Given the description of an element on the screen output the (x, y) to click on. 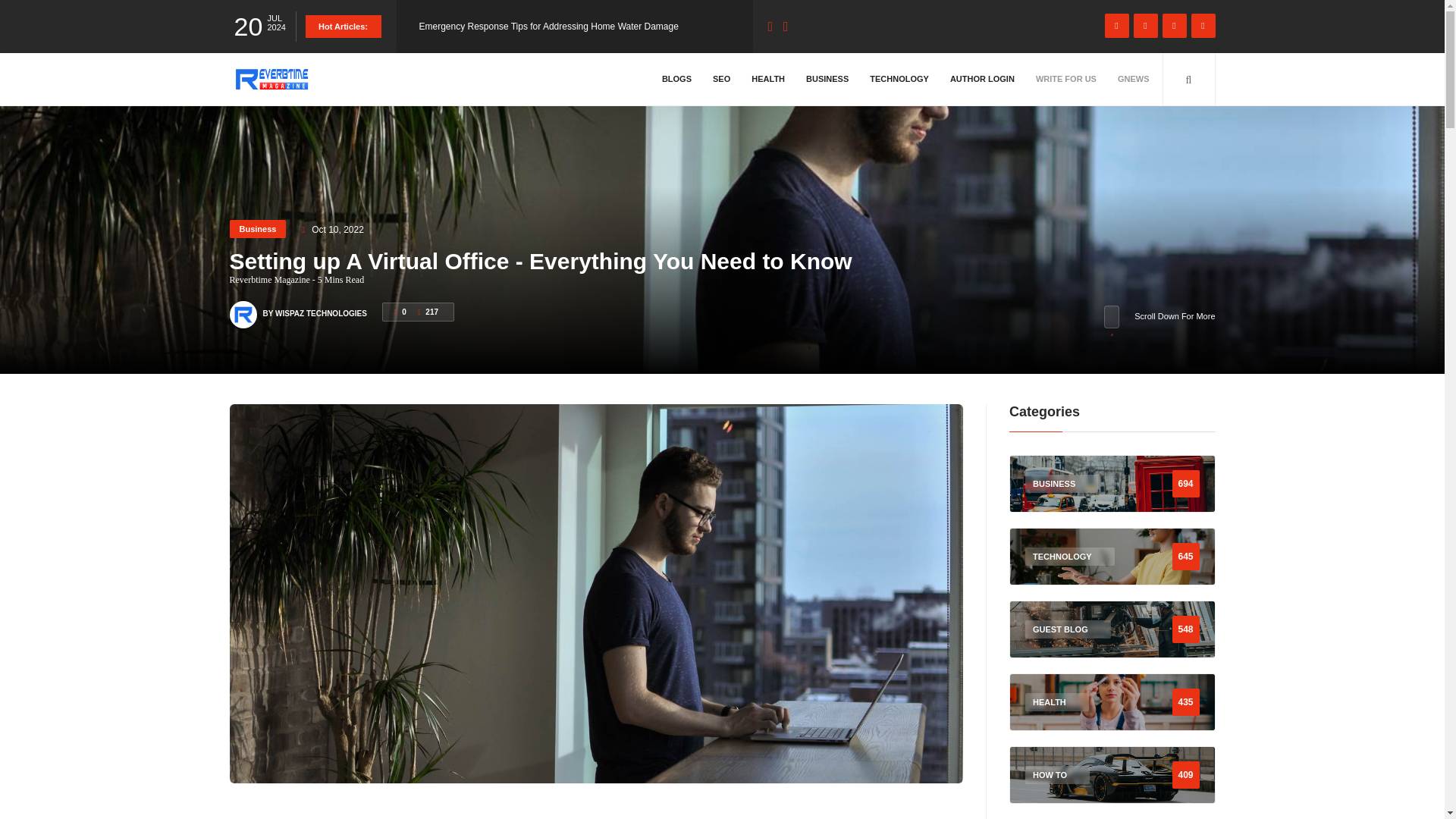
Business (256, 229)
GNEWS (1133, 79)
Scroll Down For More (1158, 316)
BUSINESS (827, 79)
HEALTH (767, 79)
BLOGS (676, 79)
WRITE FOR US (1066, 79)
Emergency Response Tips for Addressing Home Water Damage (548, 26)
SEO (721, 79)
AUTHOR LOGIN (982, 79)
BY WISPAZ TECHNOLOGIES (314, 306)
TECHNOLOGY (899, 79)
